Given the description of an element on the screen output the (x, y) to click on. 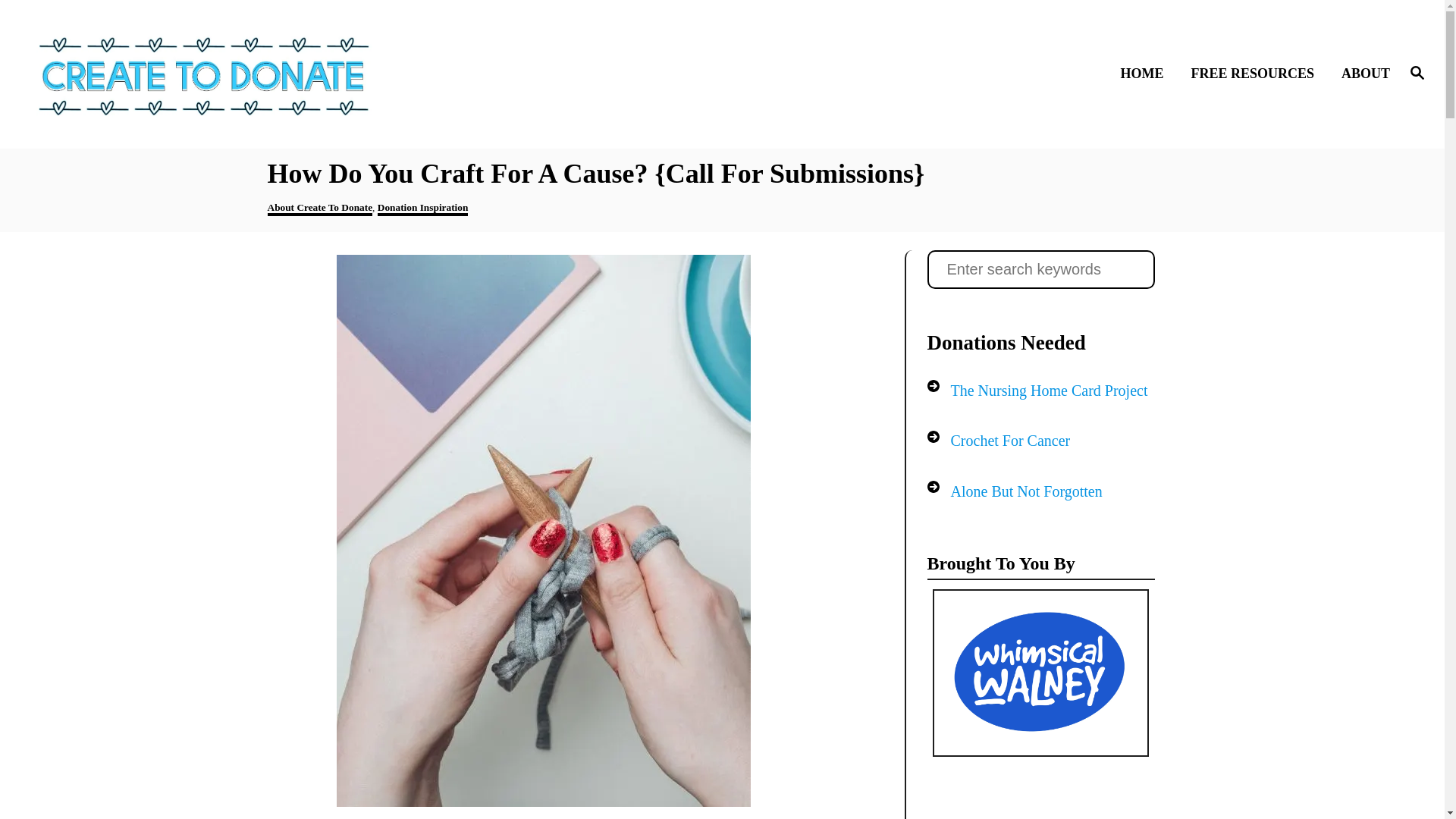
Donation Inspiration (422, 208)
Magnifying Glass (1416, 72)
Search for: (1040, 269)
About Create To Donate (319, 208)
Create To Donate (204, 74)
Search (62, 22)
ABOUT (1361, 73)
FREE RESOURCES (1256, 73)
Being A Wordsmith (529, 817)
HOME (1145, 73)
